Given the description of an element on the screen output the (x, y) to click on. 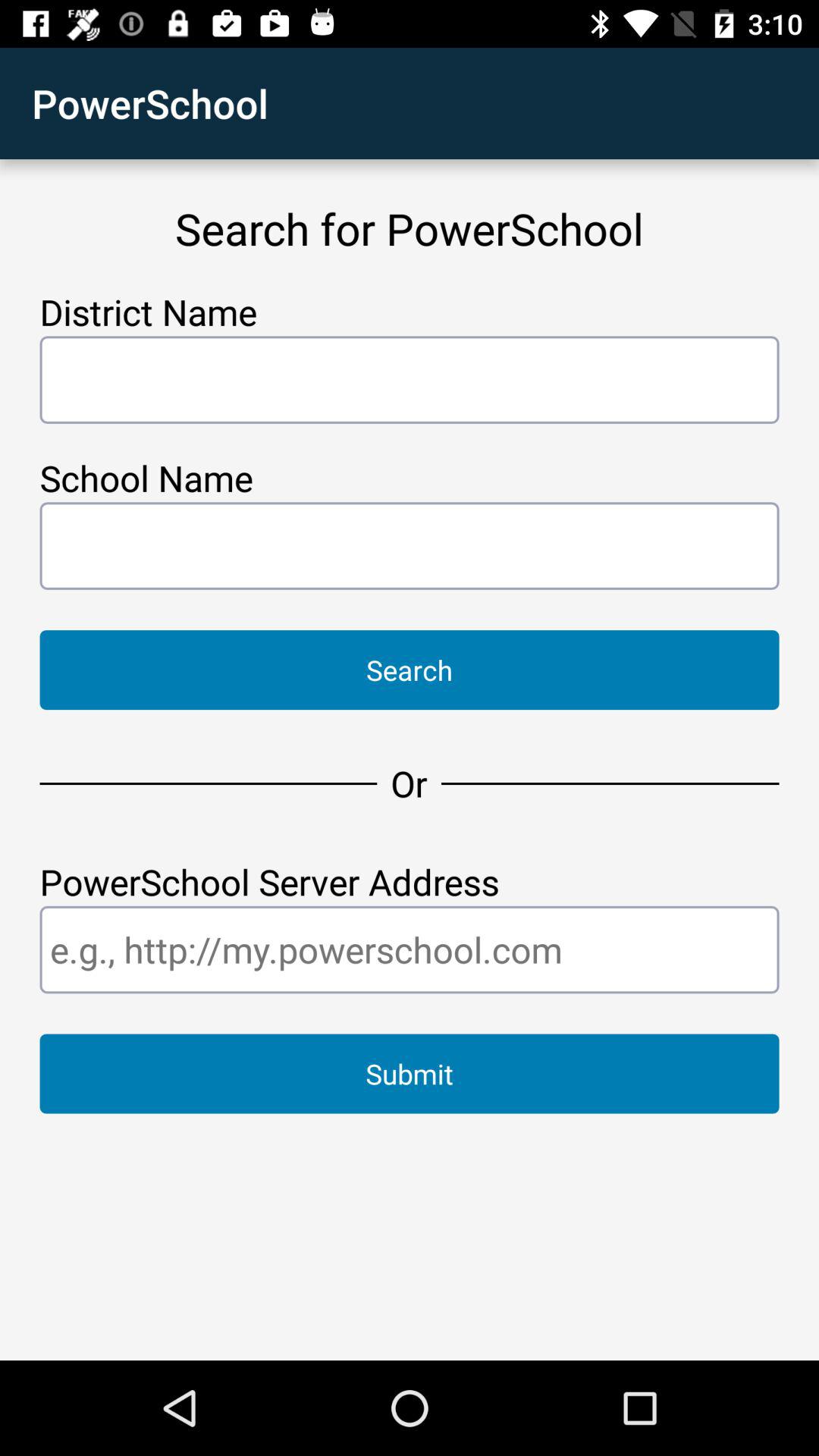
select the district name text (409, 379)
